Given the description of an element on the screen output the (x, y) to click on. 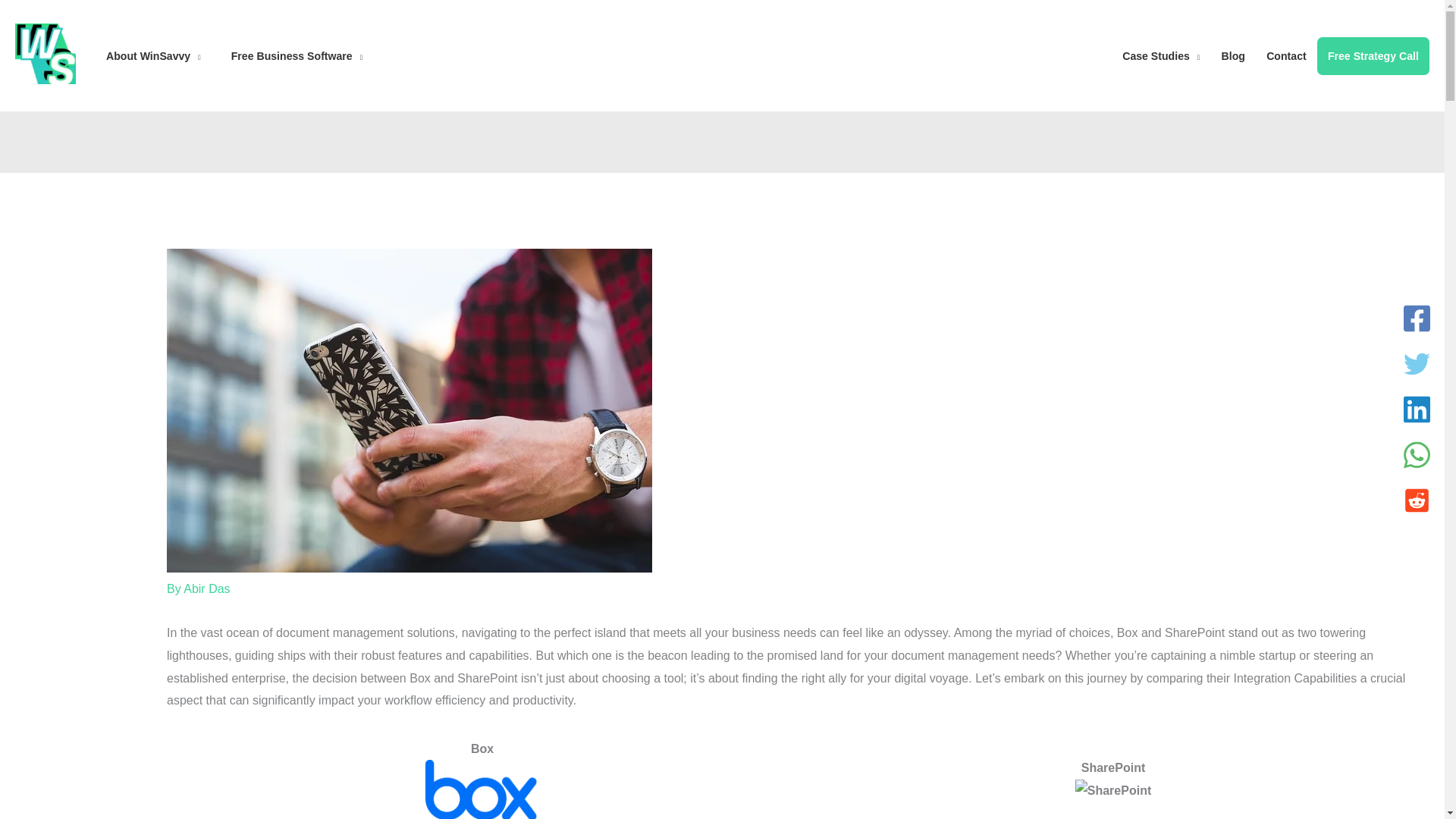
About WinSavvy (152, 55)
Free Strategy Call (1373, 55)
View all posts by Abir Das (206, 588)
Case Studies (1160, 55)
Contact (1286, 55)
Blog (1232, 55)
Free Business Software (296, 55)
